Given the description of an element on the screen output the (x, y) to click on. 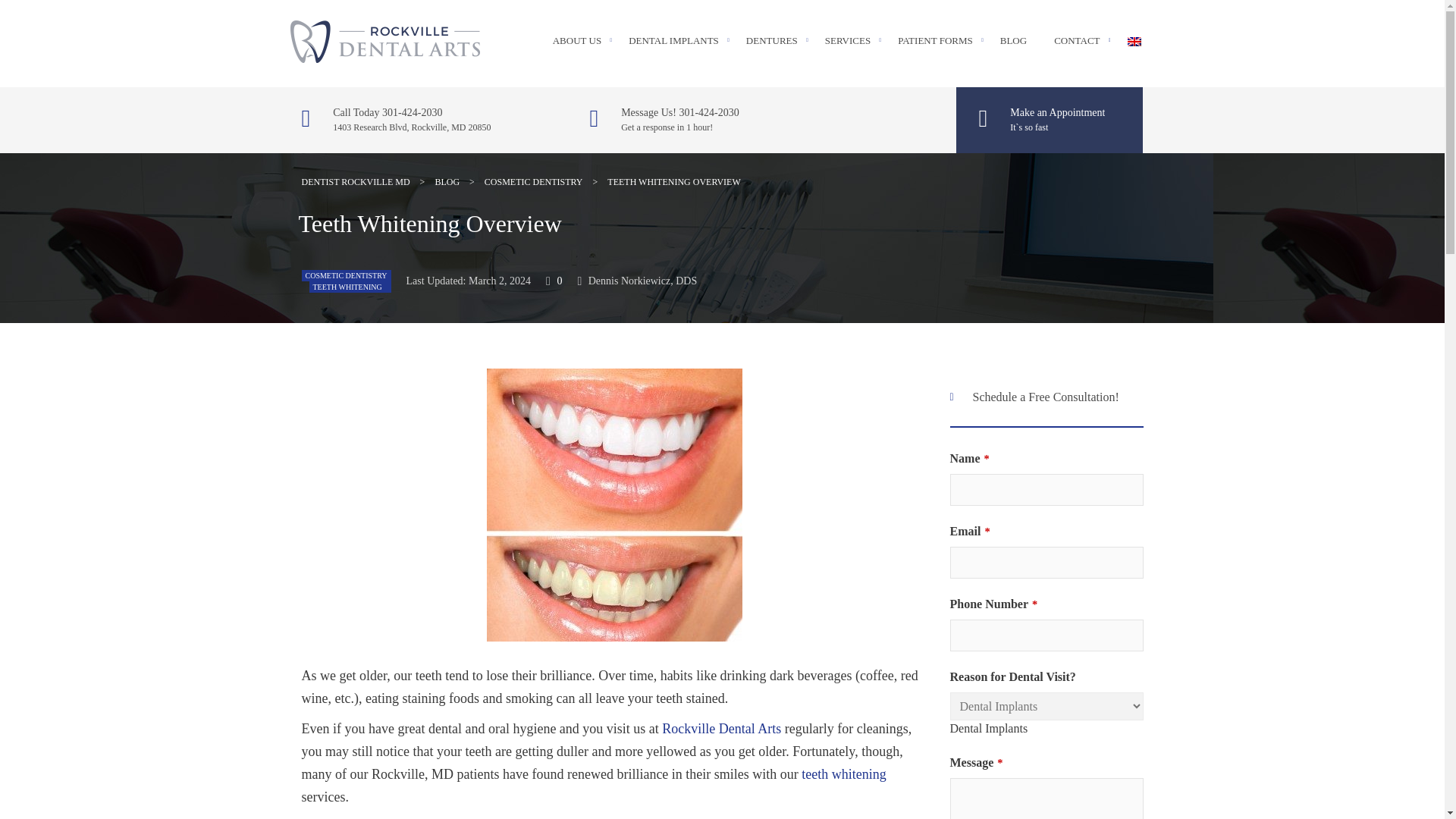
SERVICES (847, 40)
Go to Blog. (446, 181)
ABOUT US (577, 40)
DENTURES (771, 40)
Dental Implants (988, 727)
Go to Dentist Rockville MD. (355, 181)
Go to the Cosmetic Dentistry Category archives. (533, 181)
DENTAL IMPLANTS (673, 40)
